Given the description of an element on the screen output the (x, y) to click on. 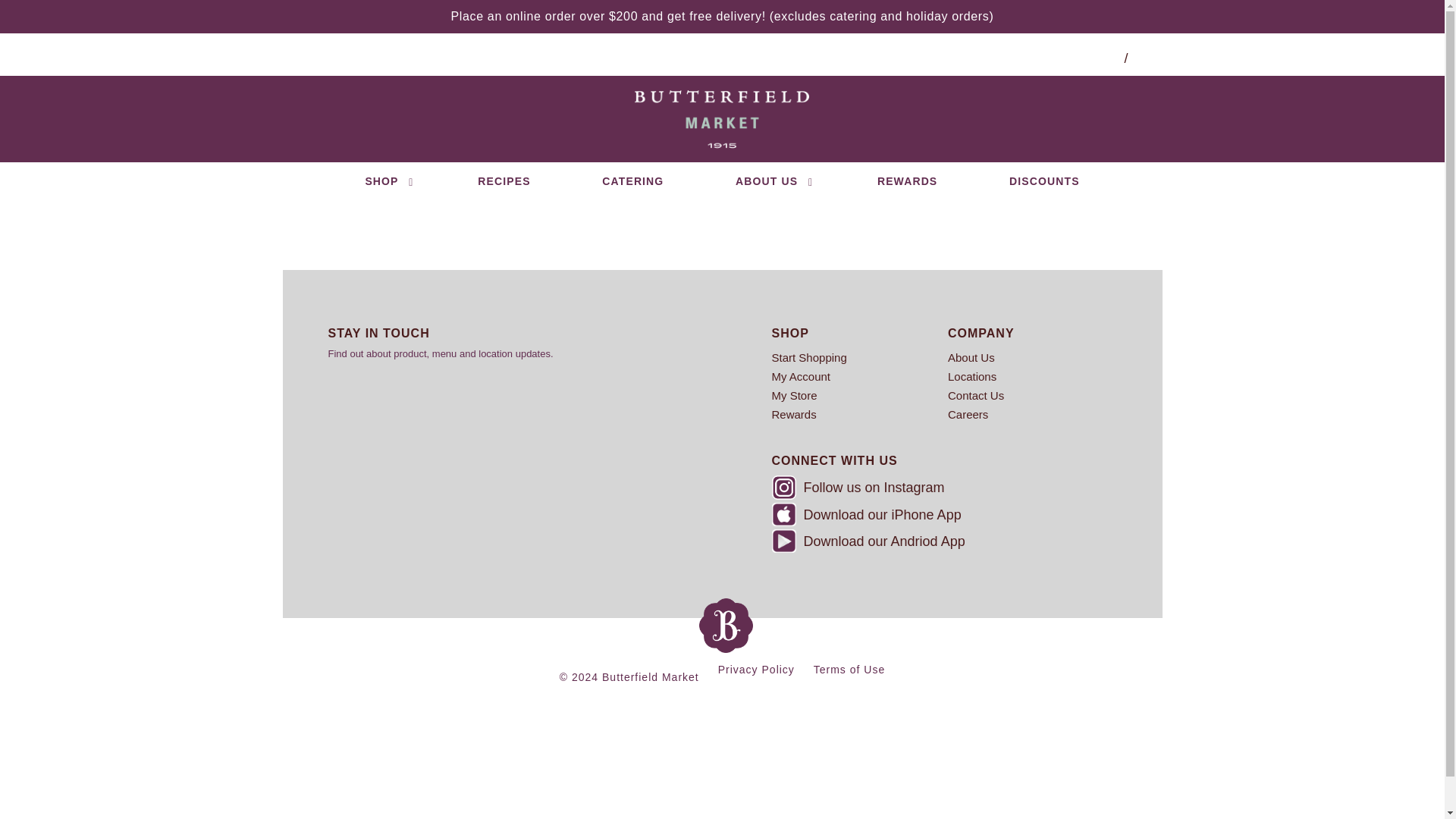
Contact Us (1035, 394)
Visit us on Instagram (783, 487)
About Us (1035, 357)
Start Shopping (860, 357)
iPhone (783, 514)
My Account (860, 375)
Locations (1035, 375)
Android (783, 540)
DISCOUNTS (1043, 180)
Rewards (860, 414)
CATERING (633, 180)
View butterfieldnyc on Instagram (940, 488)
Privacy Policy (755, 669)
Terms of Use (849, 669)
ABOUT US (769, 180)
